Given the description of an element on the screen output the (x, y) to click on. 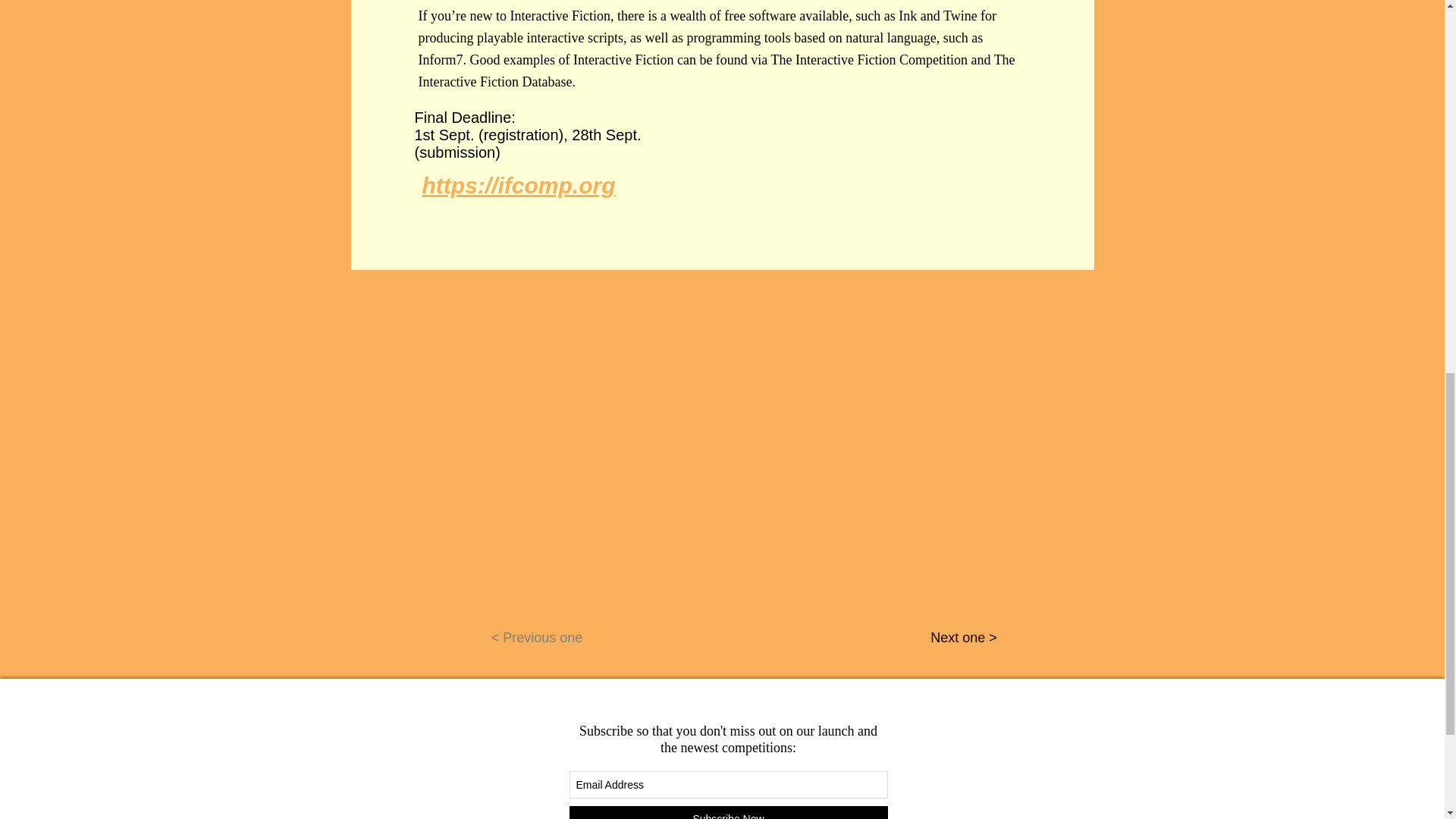
Subscribe Now (727, 812)
